Given the description of an element on the screen output the (x, y) to click on. 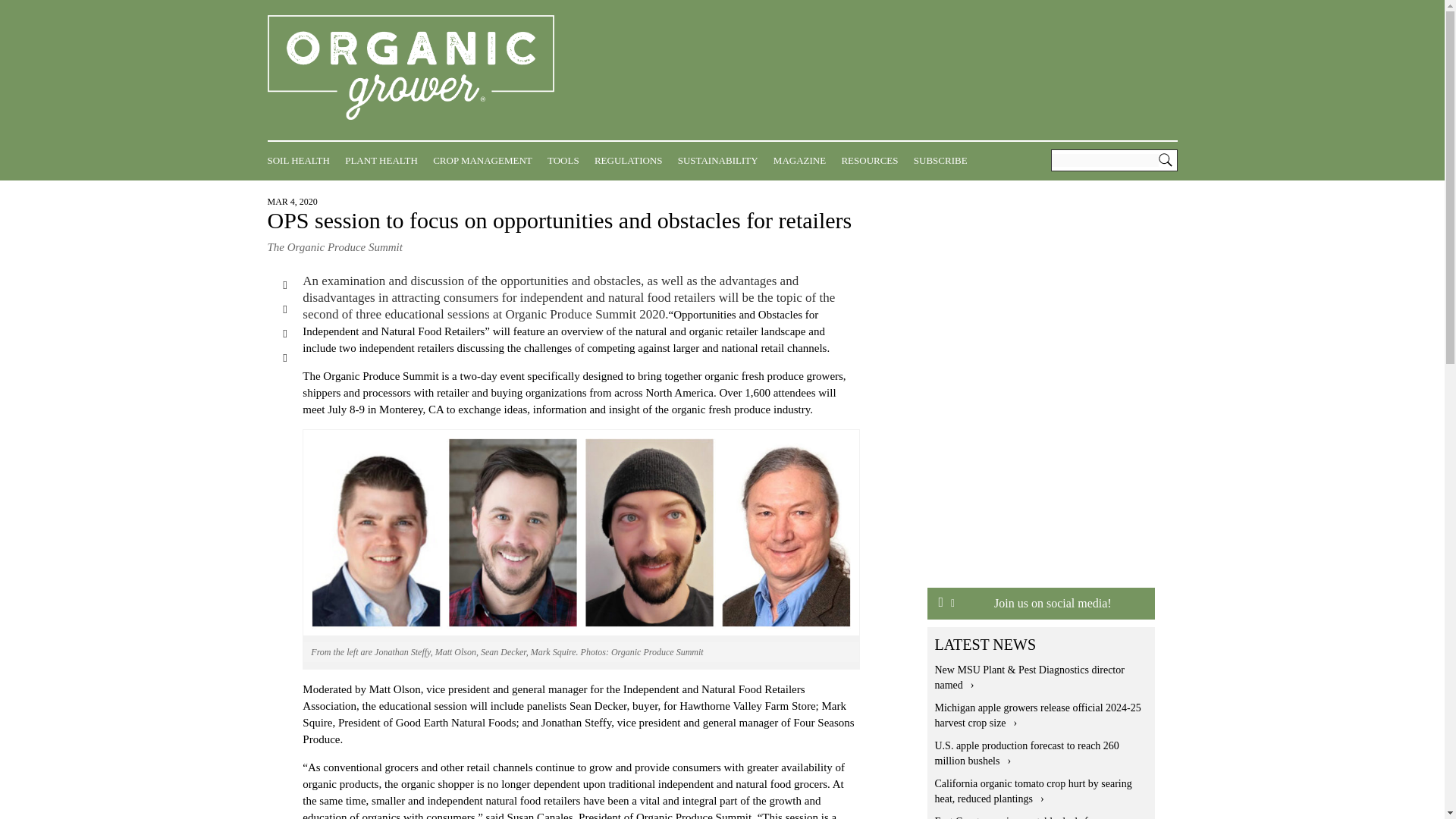
REGULATIONS (631, 160)
RESOURCES (873, 160)
U.S. apple production forecast to reach 260 million bushels (1026, 753)
CROP MANAGEMENT (486, 160)
SUBSCRIBE (944, 160)
SOIL HEALTH (301, 160)
PLANT HEALTH (385, 160)
TOOLS (566, 160)
